Given the description of an element on the screen output the (x, y) to click on. 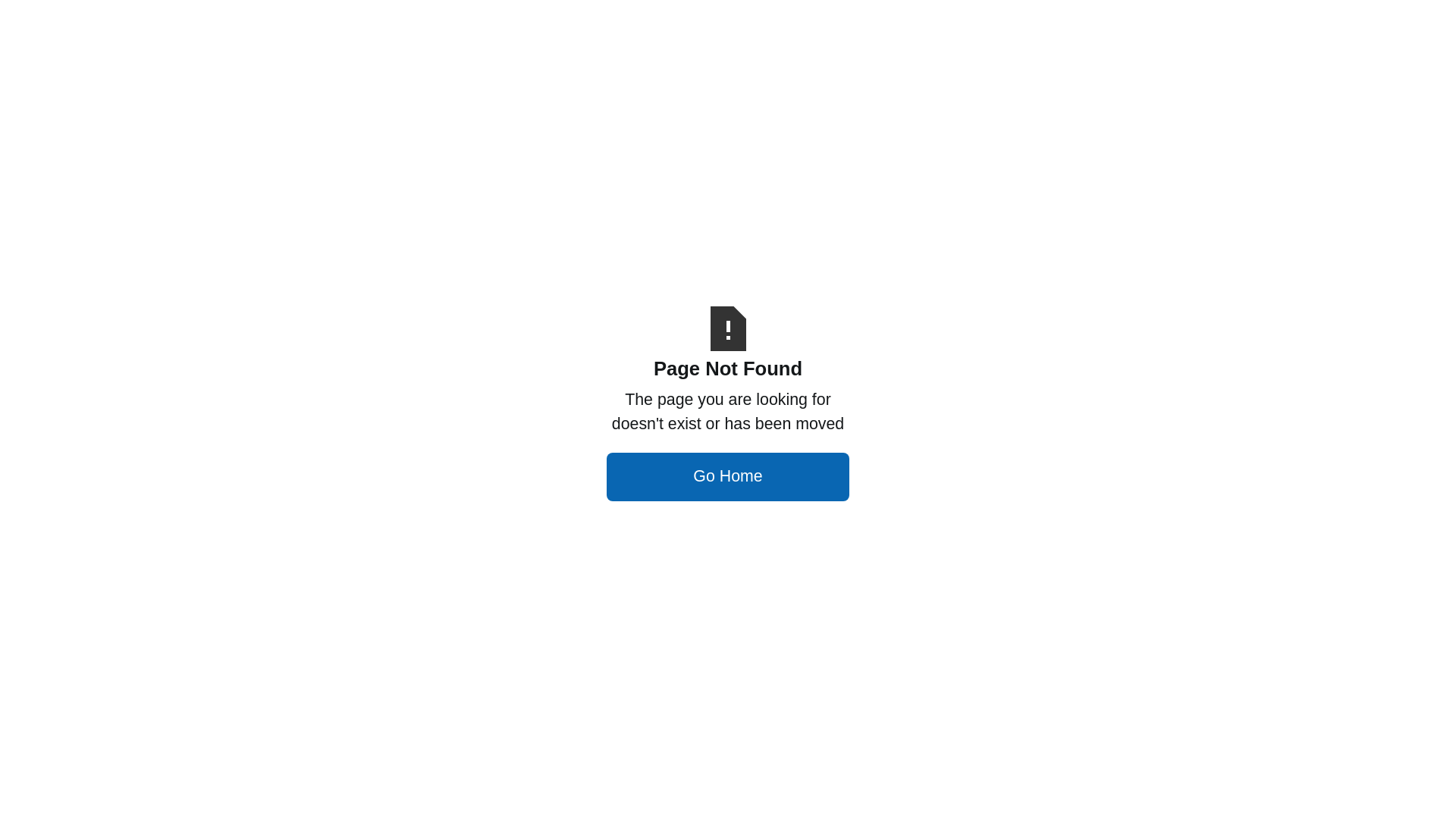
Go Home Element type: text (727, 476)
